Given the description of an element on the screen output the (x, y) to click on. 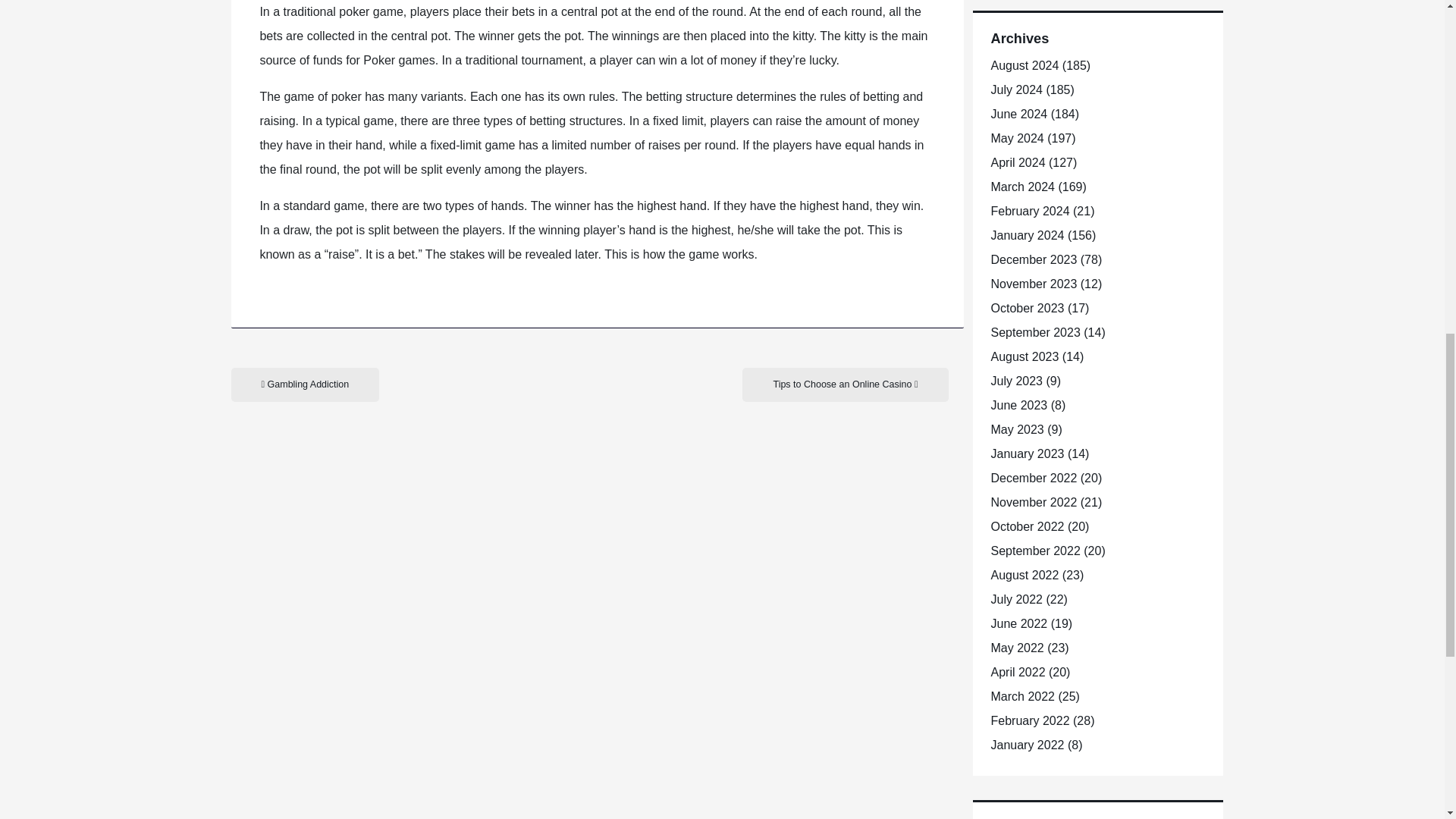
July 2024 (1016, 89)
February 2024 (1029, 210)
August 2022 (1024, 574)
August 2024 (1024, 65)
Tips to Choose an Online Casino (844, 384)
January 2023 (1027, 453)
May 2023 (1016, 429)
May 2024 (1016, 137)
December 2022 (1033, 477)
November 2022 (1033, 502)
